Given the description of an element on the screen output the (x, y) to click on. 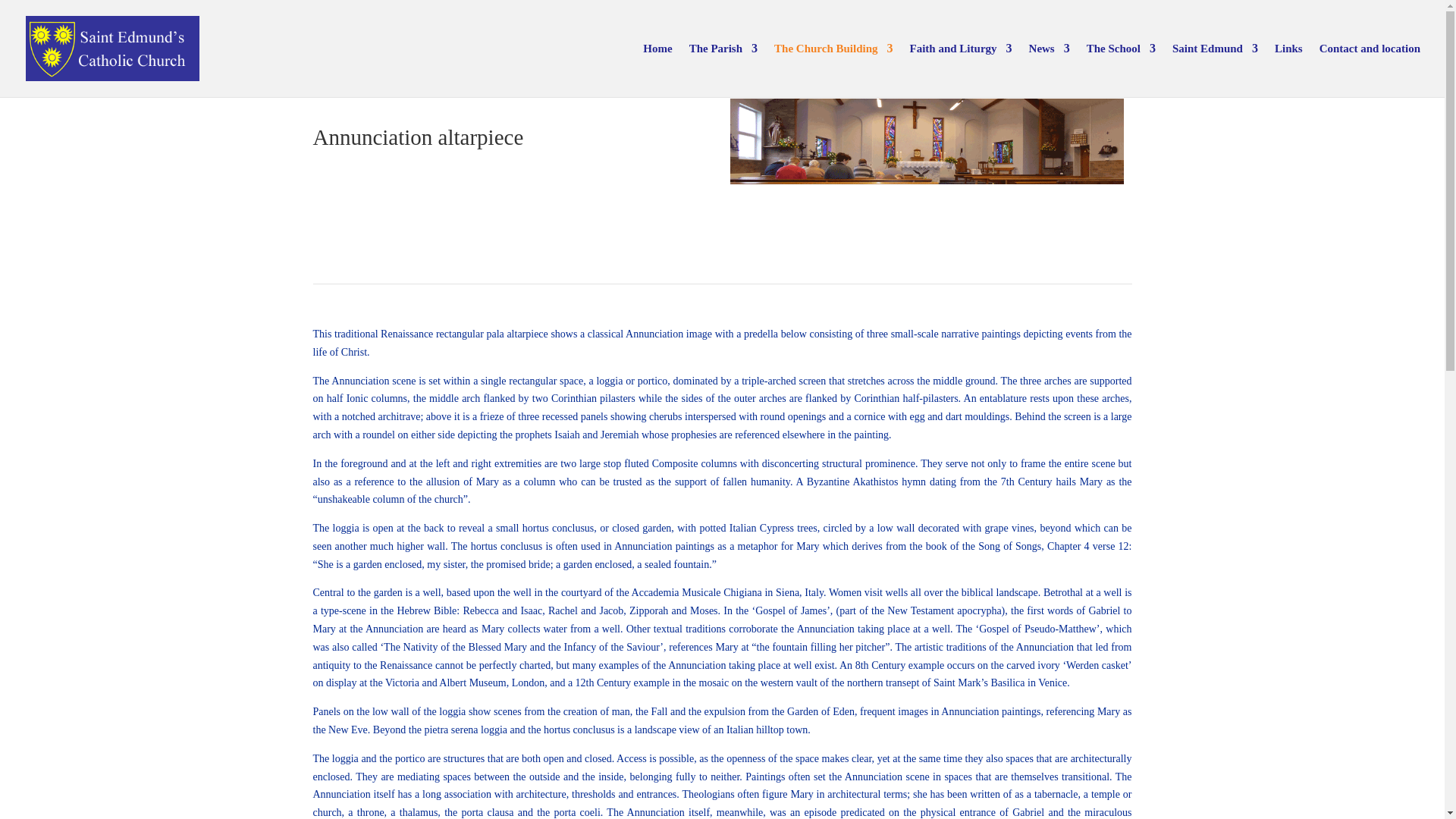
Faith and Liturgy (960, 70)
Saint Edmund (1214, 70)
The School (1121, 70)
Contact and location (1370, 70)
The Parish (722, 70)
The Church Building (833, 70)
